Given the description of an element on the screen output the (x, y) to click on. 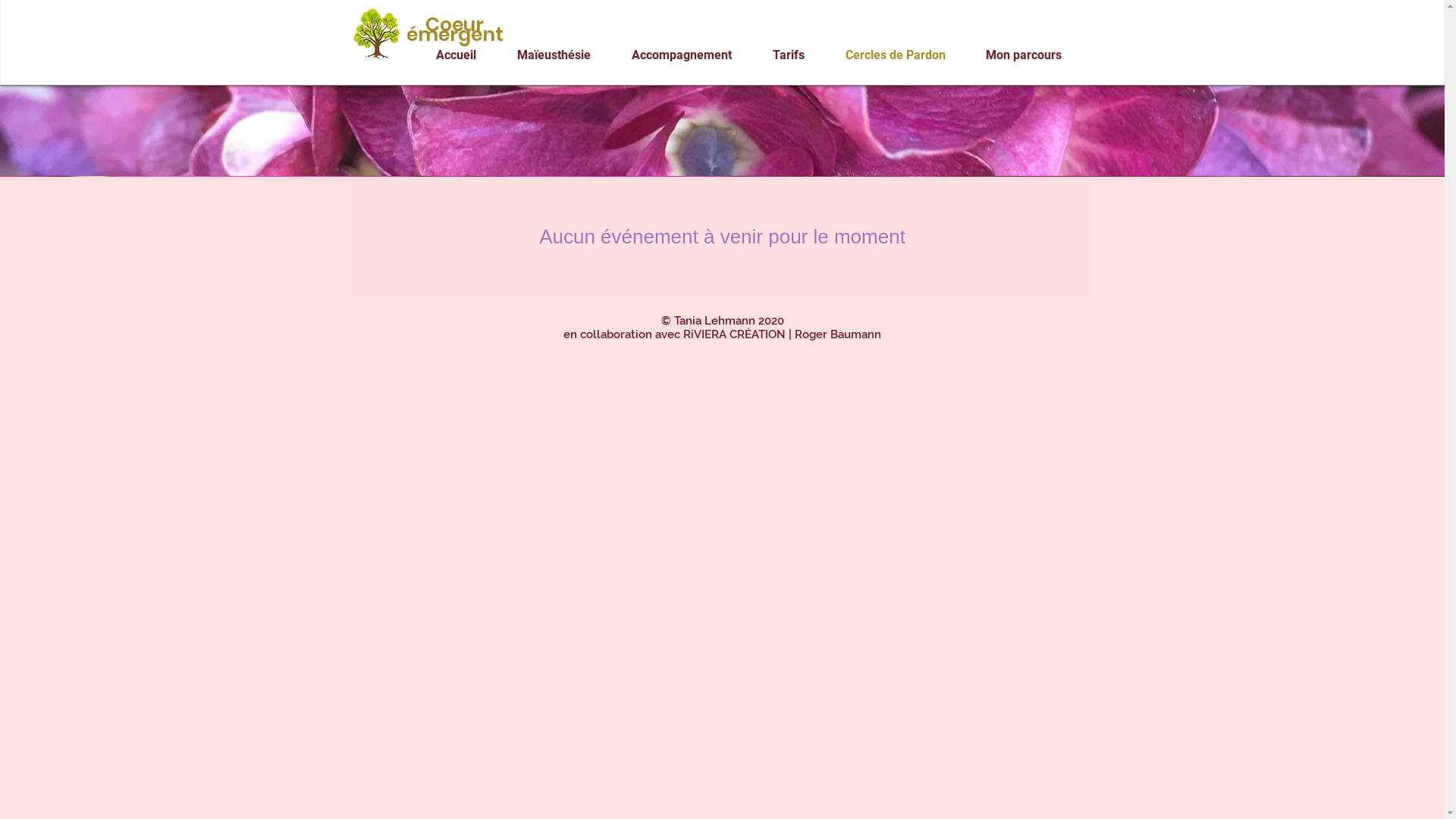
Cercles de Pardon Element type: text (904, 54)
Tarifs Element type: text (797, 54)
Accompagnement Element type: text (690, 54)
Accueil Element type: text (464, 54)
